Given the description of an element on the screen output the (x, y) to click on. 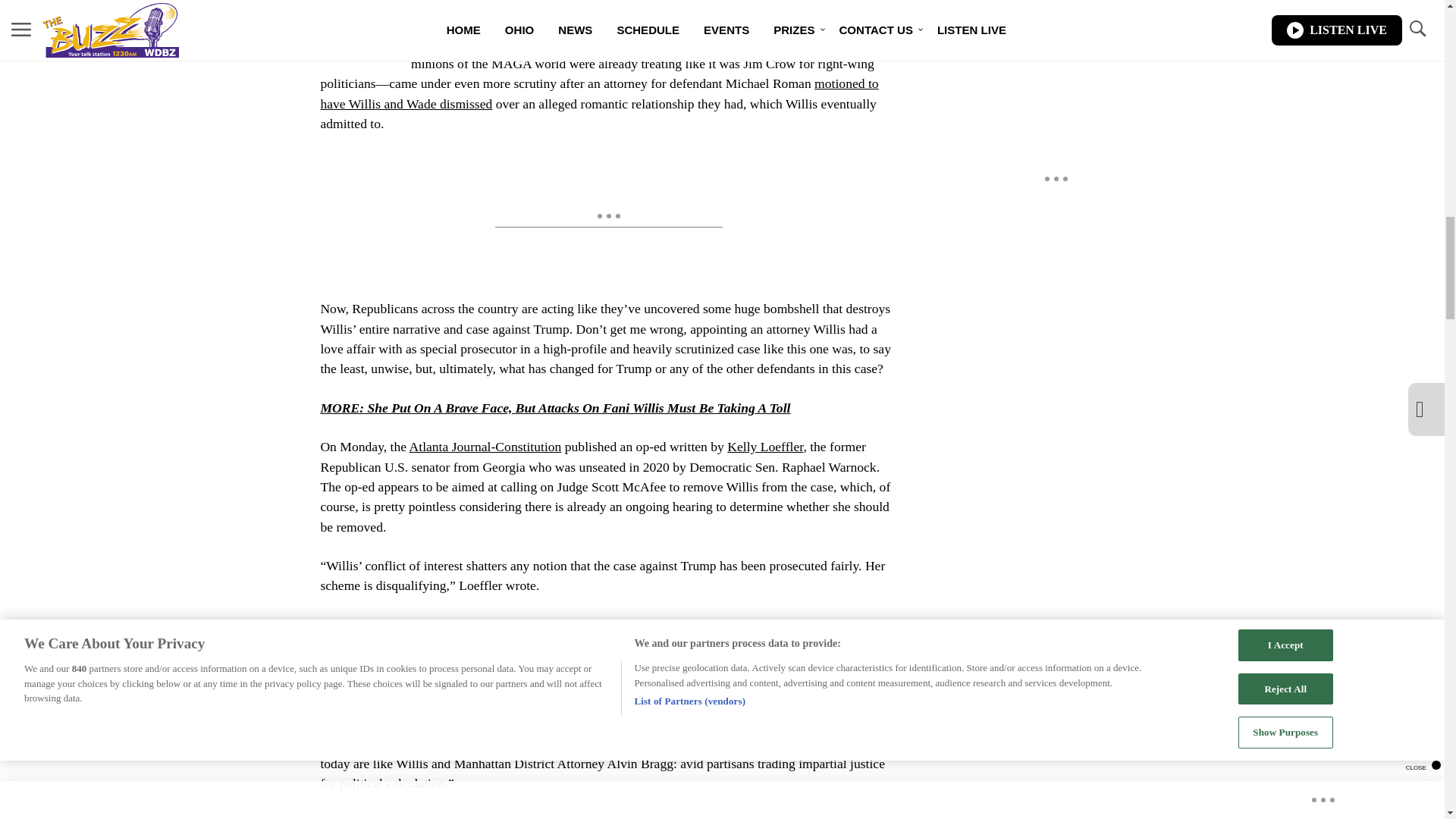
Atlanta Journal-Constitution (485, 446)
motioned to have Willis and Wade dismissed (598, 93)
Kelly Loeffler (764, 446)
